Given the description of an element on the screen output the (x, y) to click on. 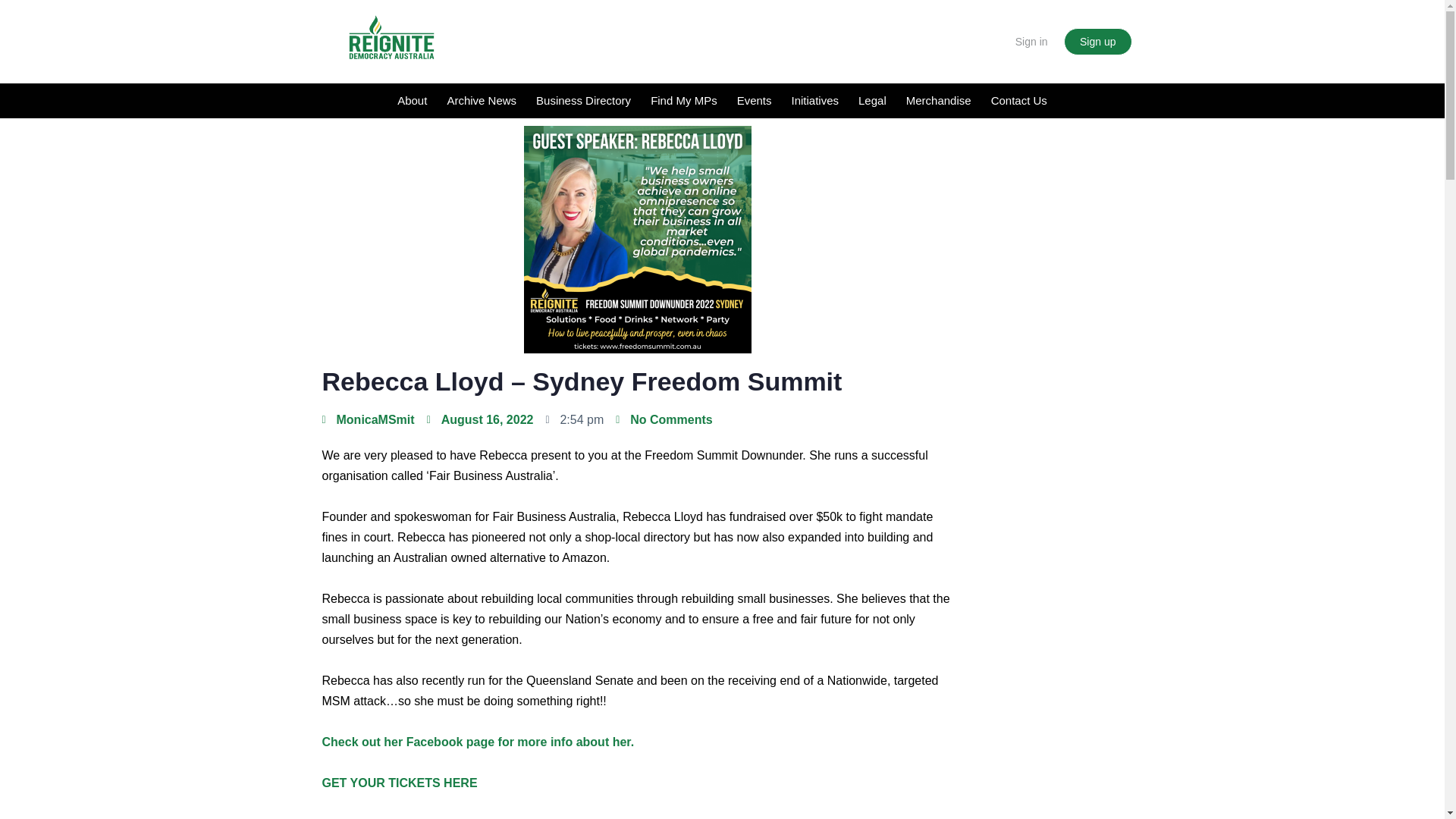
Merchandise (938, 100)
Events (753, 100)
Find My MPs (683, 100)
Business Directory (582, 100)
Sign up (1097, 41)
Sign in (1031, 41)
About (411, 100)
Contact Us (1019, 100)
Initiatives (814, 100)
Archive News (480, 100)
